Given the description of an element on the screen output the (x, y) to click on. 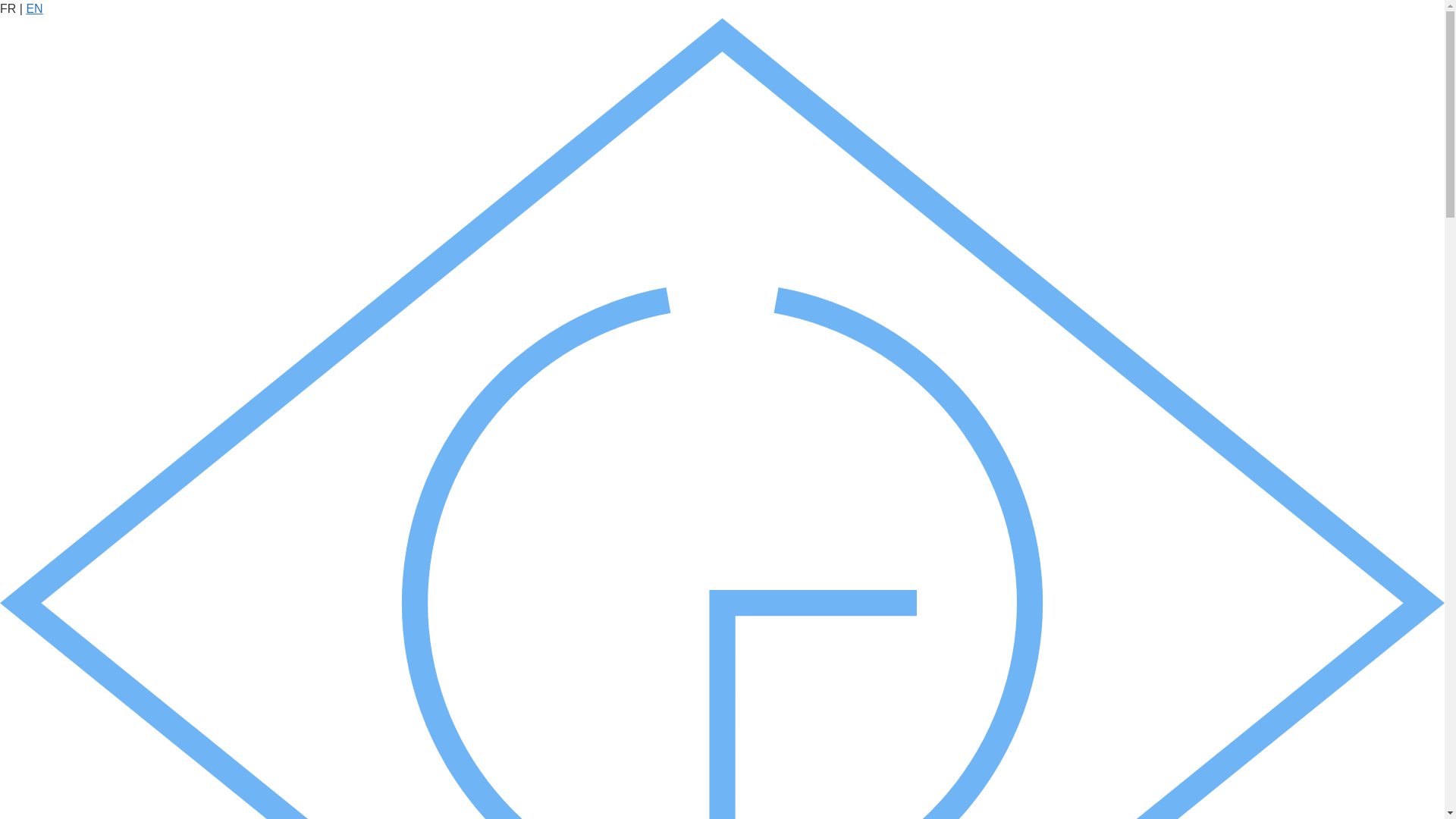
EN Element type: text (33, 8)
